Given the description of an element on the screen output the (x, y) to click on. 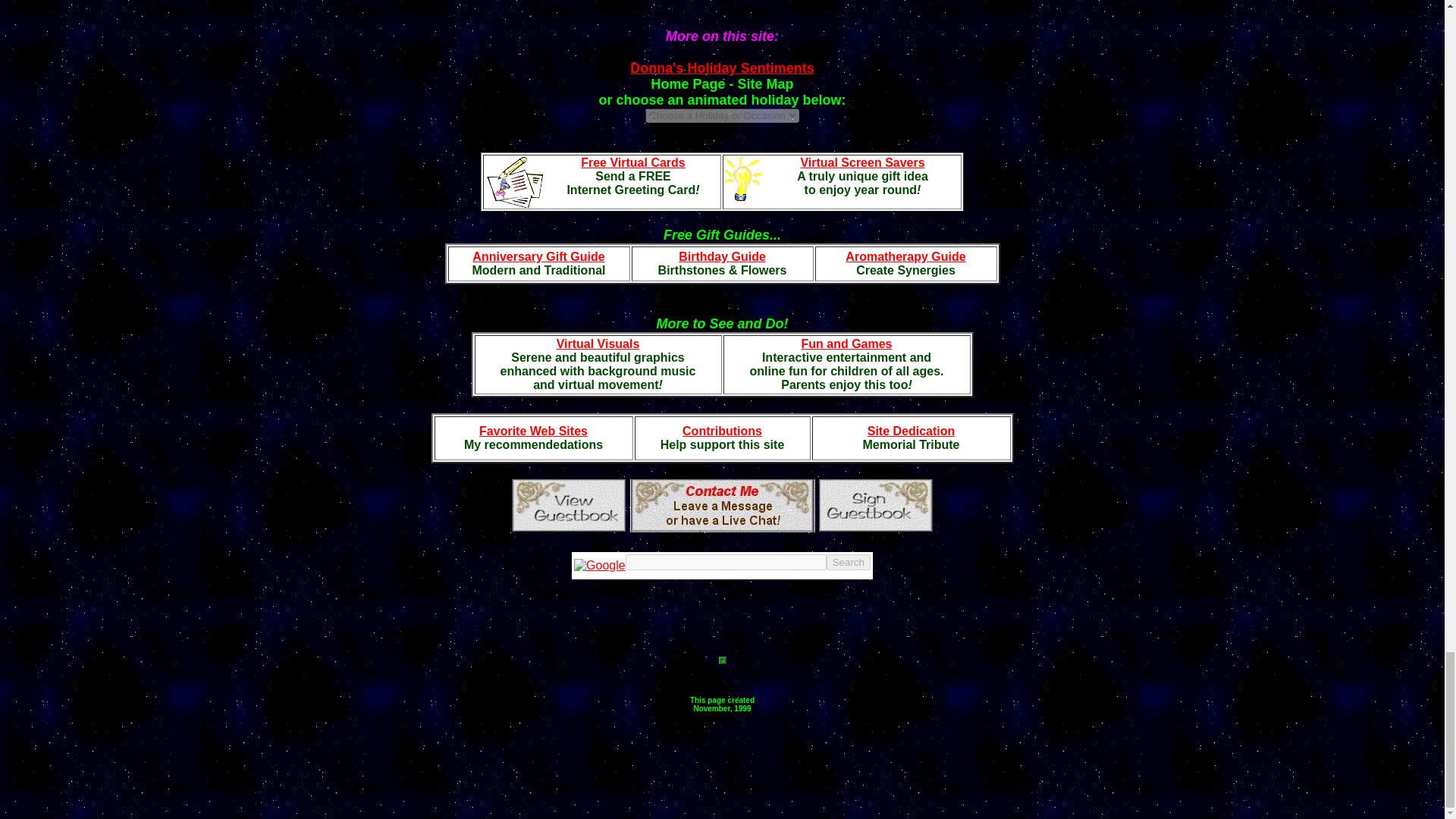
Contributions (721, 431)
Favorite Web Sites (533, 431)
Aromatherapy Guide (905, 256)
Virtual Screen Savers (861, 162)
Search (848, 562)
Anniversary Gift Guide (537, 256)
Search (848, 562)
Fun and Games (845, 343)
Virtual Visuals (598, 343)
Donna's Holiday Sentiments (721, 68)
Site Dedication (911, 431)
Free Virtual Cards (632, 162)
Birthday Guide (721, 256)
